Given the description of an element on the screen output the (x, y) to click on. 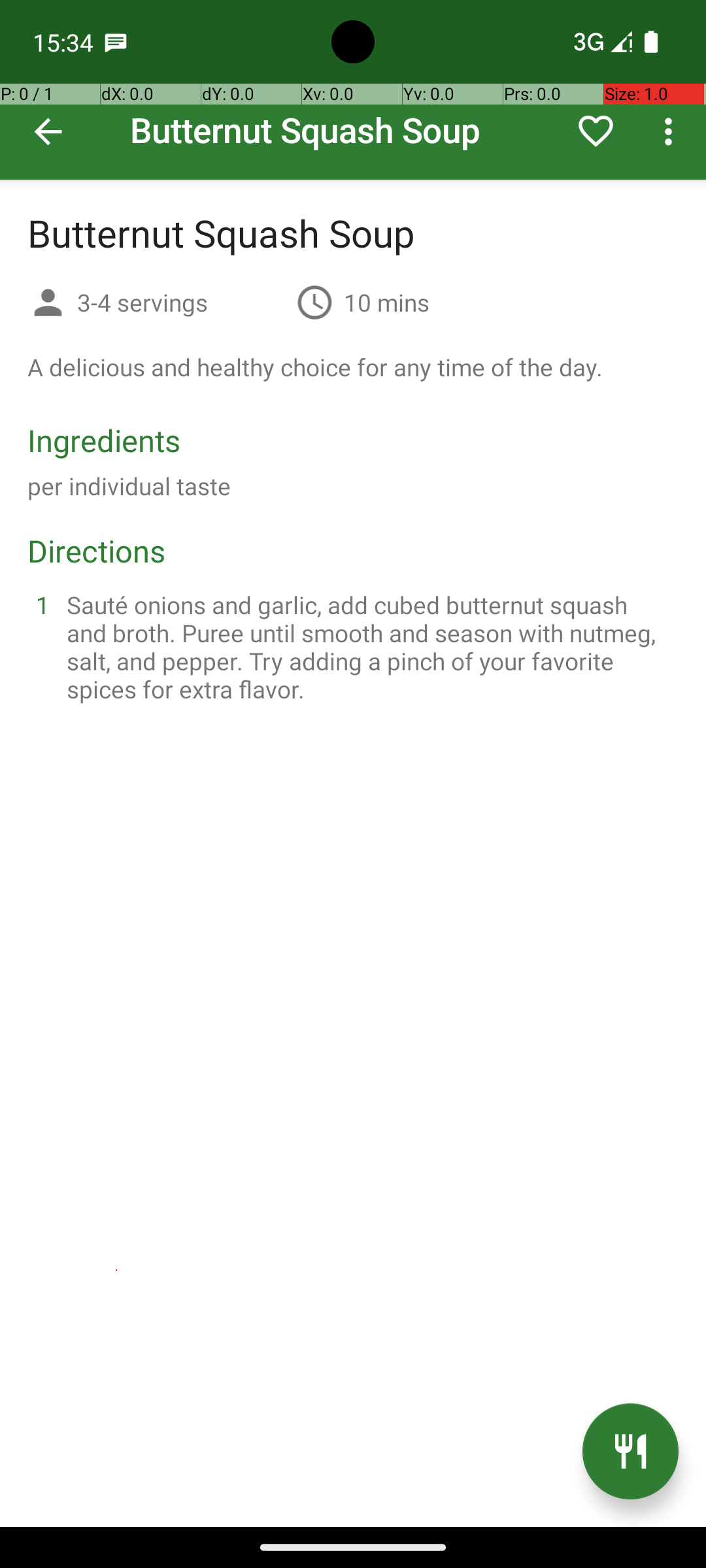
per individual taste Element type: android.widget.TextView (128, 485)
Sauté onions and garlic, add cubed butternut squash and broth. Puree until smooth and season with nutmeg, salt, and pepper. Try adding a pinch of your favorite spices for extra flavor. Element type: android.widget.TextView (368, 646)
